Given the description of an element on the screen output the (x, y) to click on. 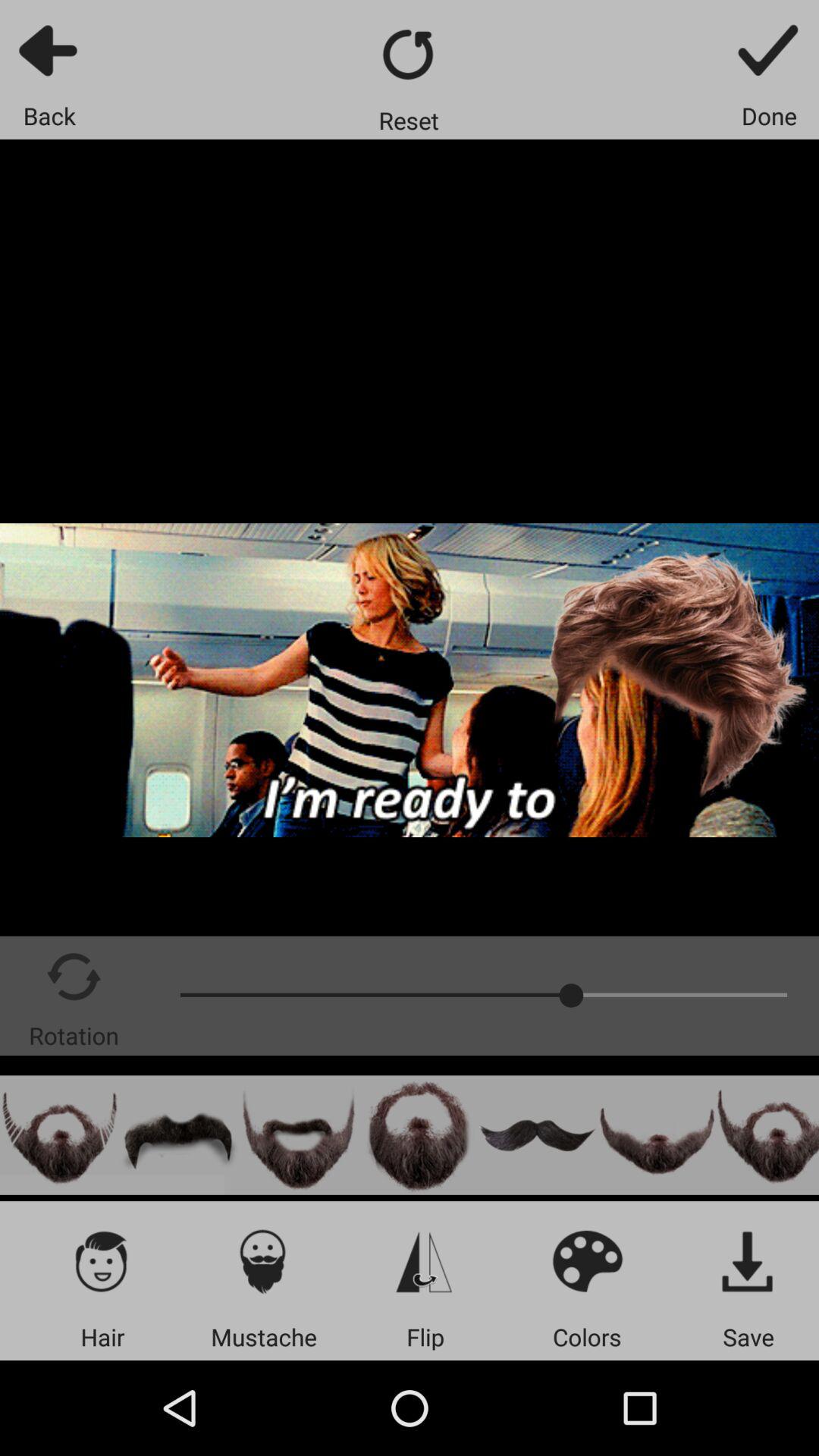
press the app above the hair item (102, 1260)
